Given the description of an element on the screen output the (x, y) to click on. 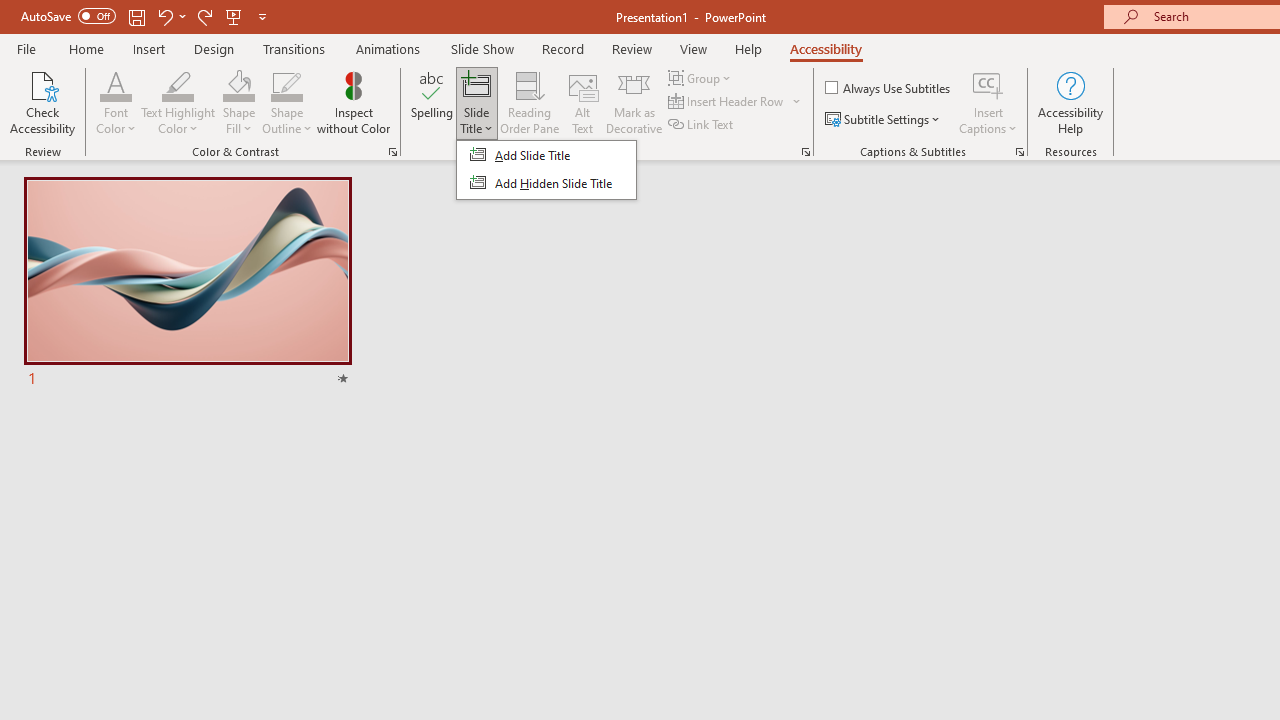
Mark as Decorative (634, 102)
Always Use Subtitles (889, 87)
Screen Reader (805, 151)
Reading Order Pane (529, 102)
